Given the description of an element on the screen output the (x, y) to click on. 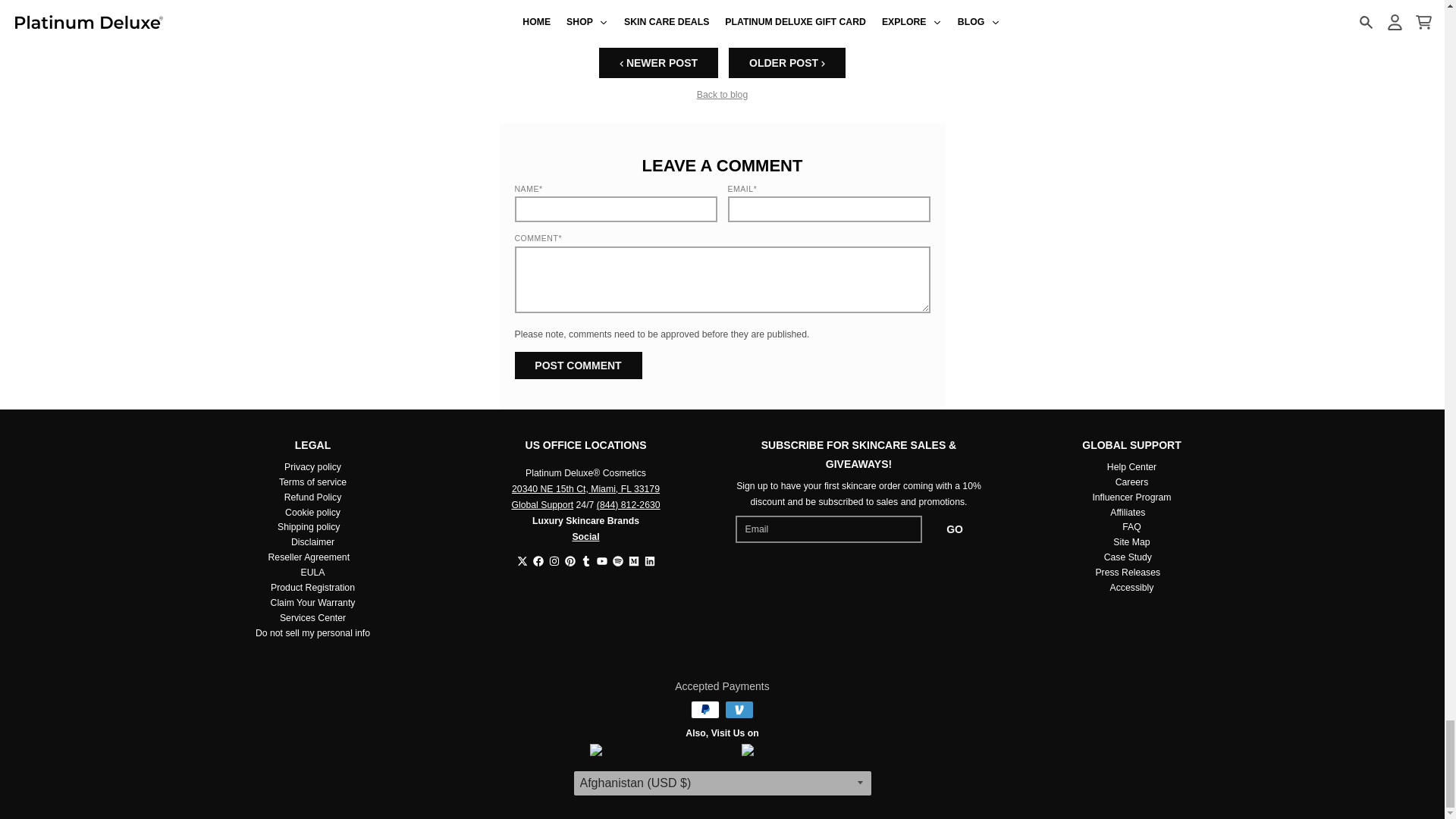
LinkedIn - Platinum Deluxe Cosmetics (650, 561)
YouTube - Platinum Deluxe Cosmetics (601, 561)
Tumblr - Platinum Deluxe Cosmetics (585, 561)
Spotify - Platinum Deluxe Cosmetics (617, 561)
Twitter - Platinum Deluxe Cosmetics (521, 561)
Pinterest - Platinum Deluxe Cosmetics (569, 561)
Instagram - Platinum Deluxe Cosmetics (553, 561)
Medium - Platinum Deluxe Cosmetics (633, 561)
Post comment (577, 365)
Facebook - Platinum Deluxe Cosmetics (537, 561)
